Given the description of an element on the screen output the (x, y) to click on. 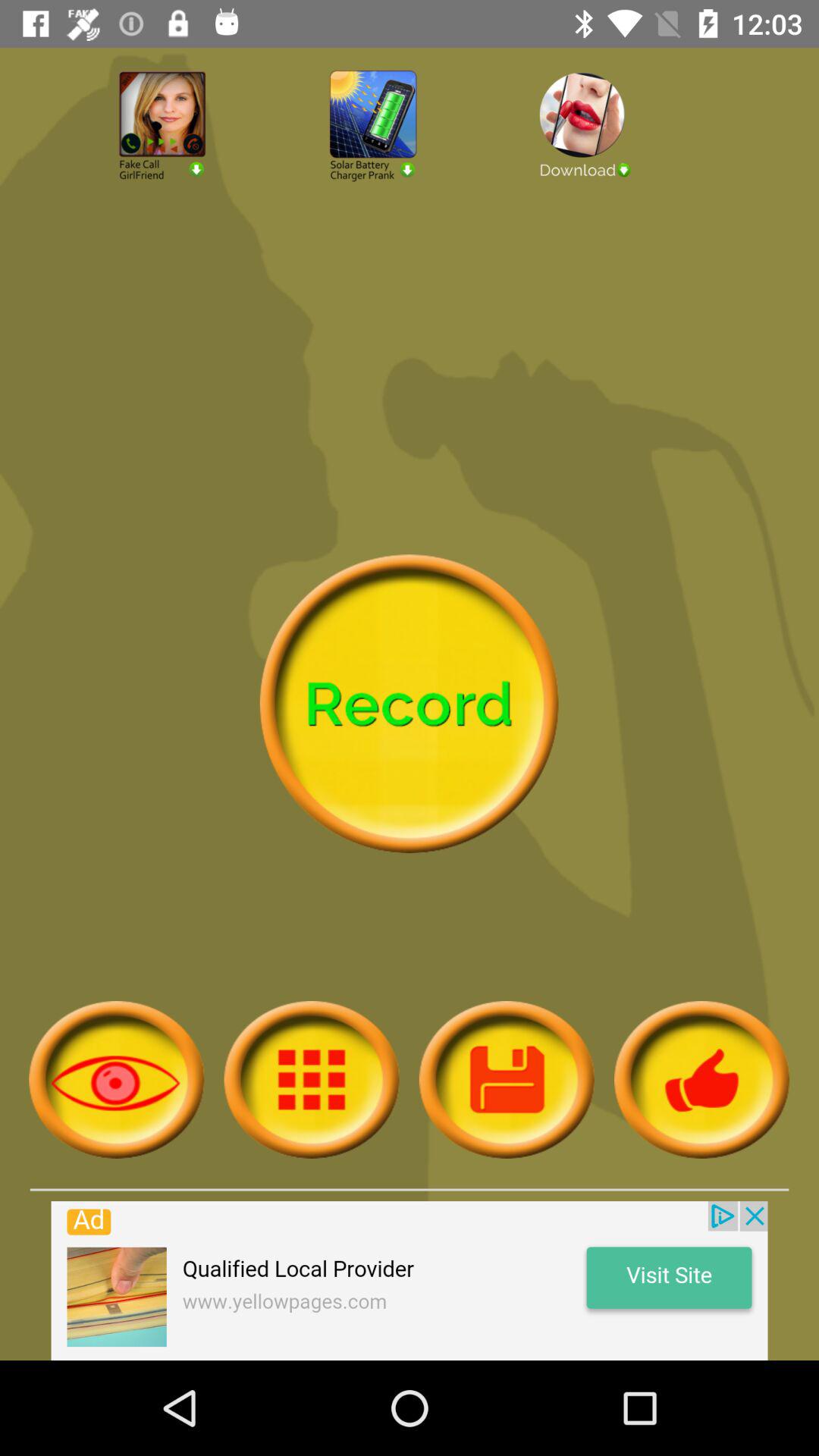
go to menu (311, 1079)
